Given the description of an element on the screen output the (x, y) to click on. 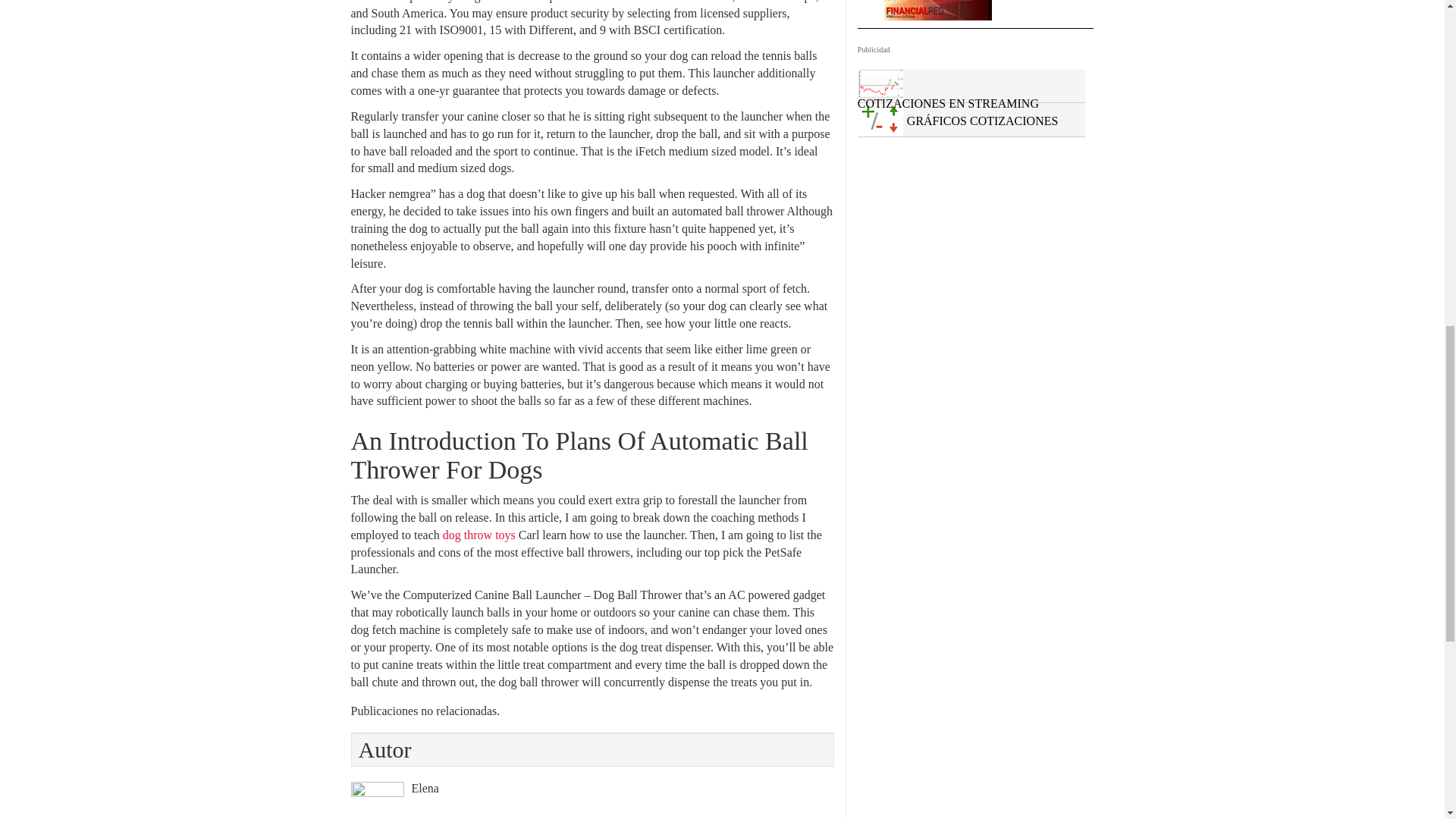
dog throw toys (478, 534)
